Given the description of an element on the screen output the (x, y) to click on. 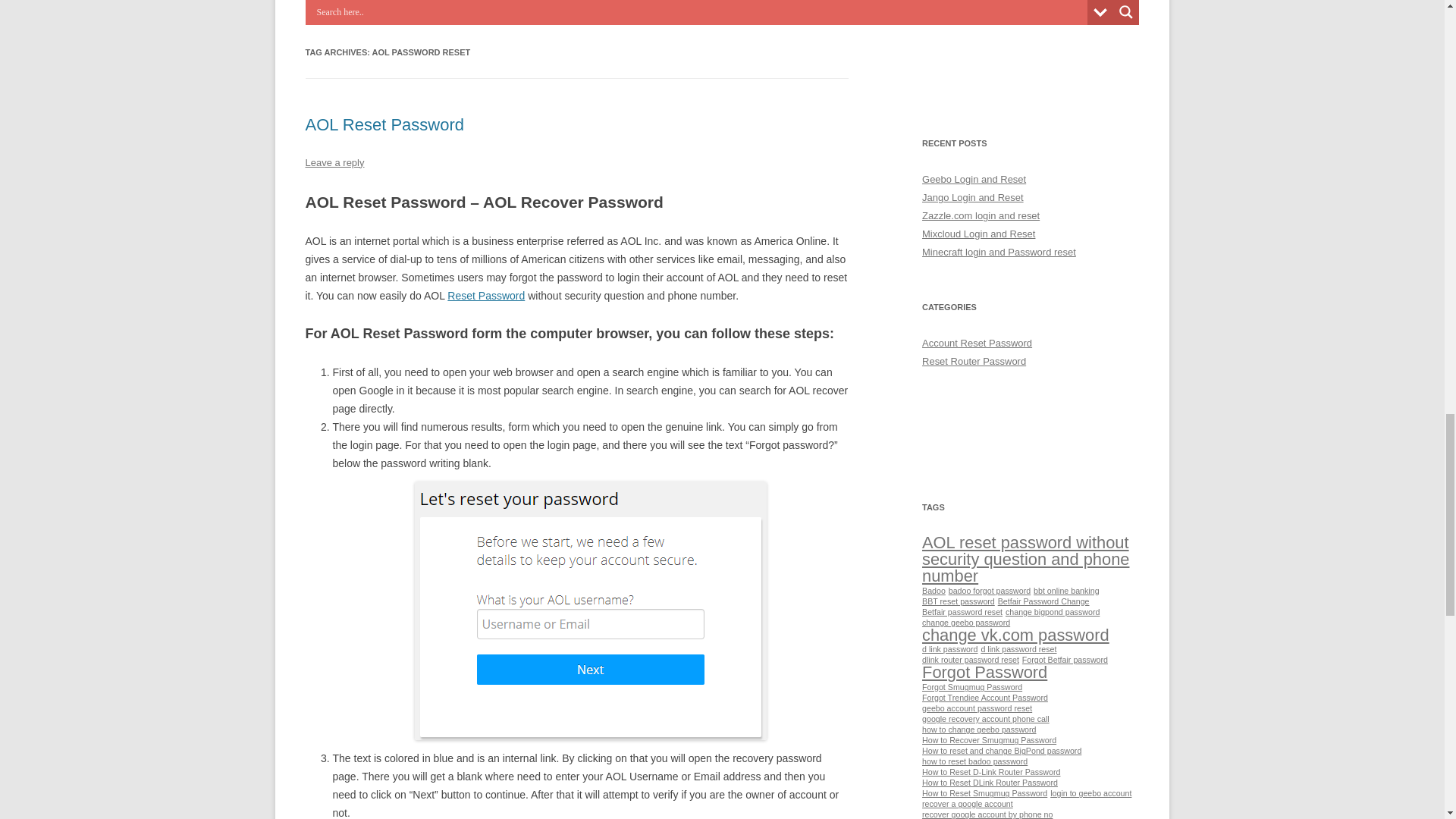
Geebo Login and Reset (973, 179)
Jango Login and Reset (972, 197)
Minecraft login and Password reset (998, 251)
Reset Router Password (973, 360)
Account Reset Password (976, 342)
change bigpond password (1052, 611)
Betfair Password Change (1043, 601)
Badoo (932, 590)
bbt online banking (1066, 590)
Mixcloud Login and Reset (978, 233)
